Given the description of an element on the screen output the (x, y) to click on. 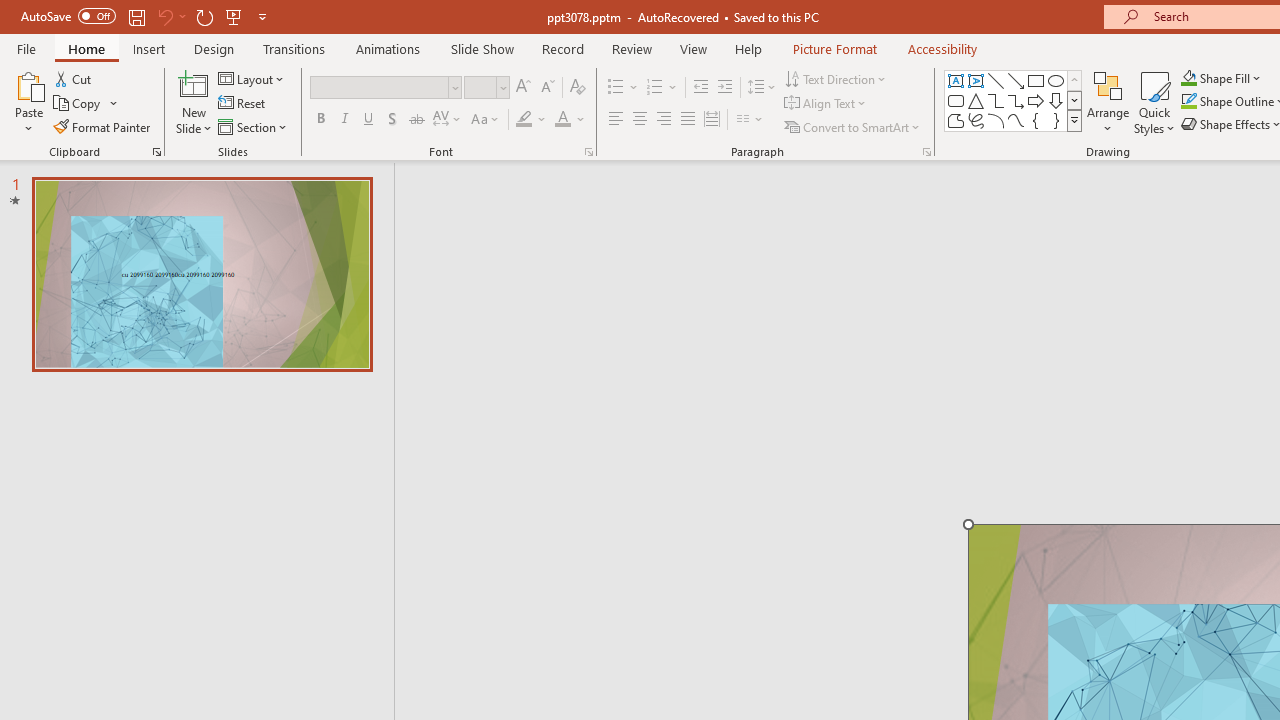
Picture Format (834, 48)
